Given the description of an element on the screen output the (x, y) to click on. 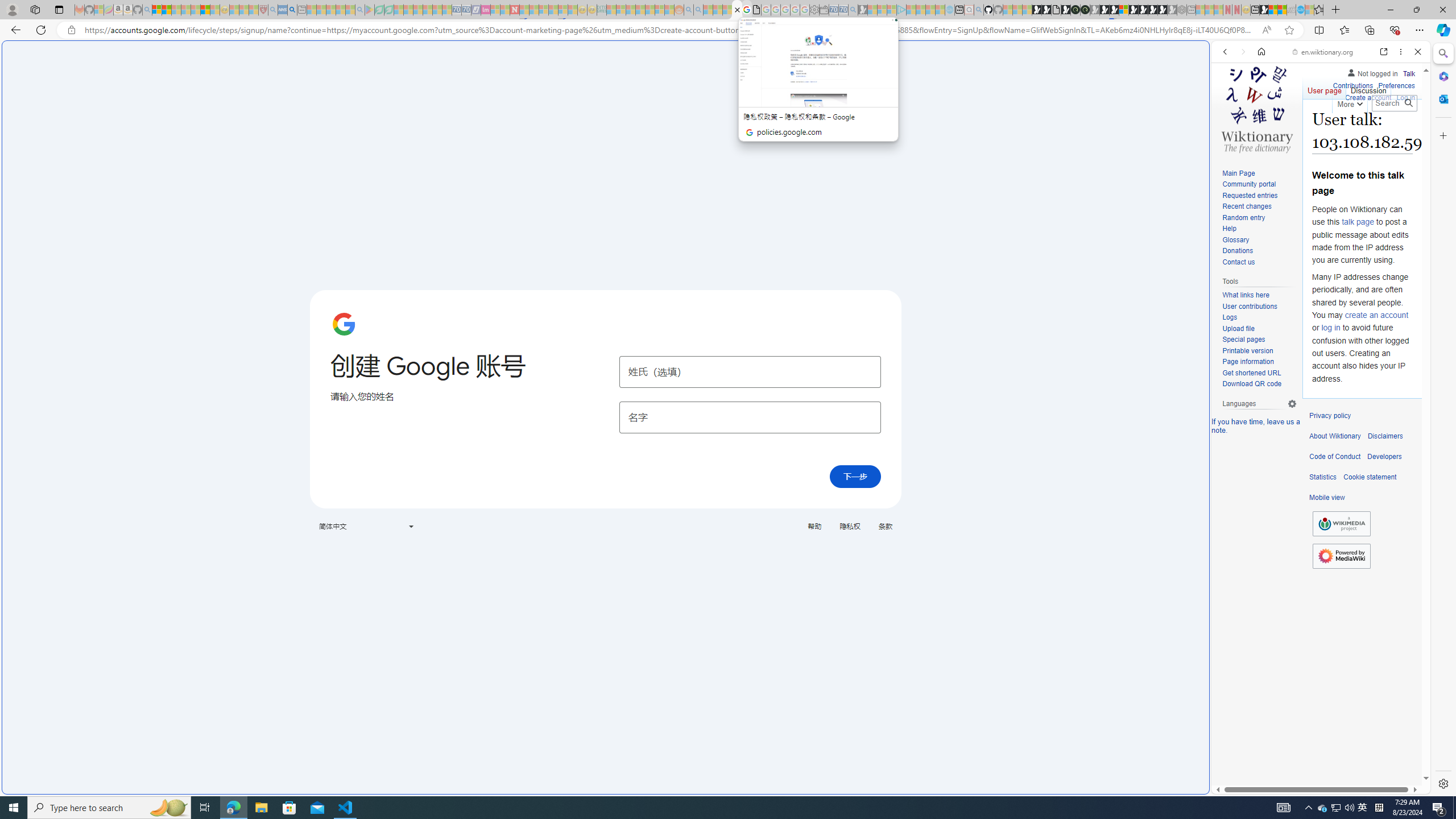
Wikimedia Foundation (1341, 524)
Not logged in (1371, 71)
